Given the description of an element on the screen output the (x, y) to click on. 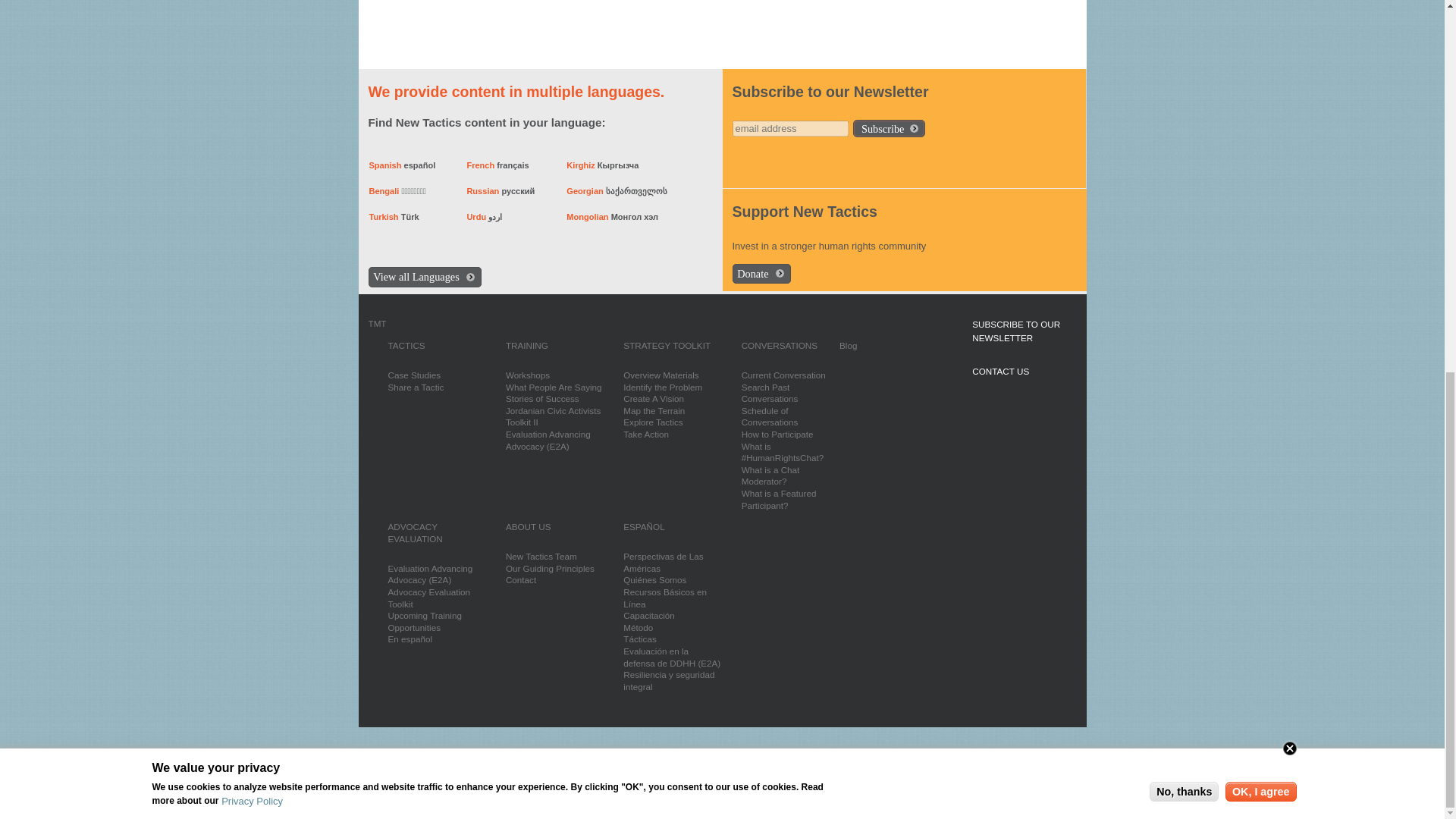
Mongolian (587, 216)
Turkish (384, 216)
Subscribe (888, 128)
Russian (482, 190)
Bengali (383, 190)
French (480, 164)
Urdu (476, 216)
Kirghiz (580, 164)
Tactical Mapping Tool (377, 323)
Spanish (385, 164)
Georgian (585, 190)
